Given the description of an element on the screen output the (x, y) to click on. 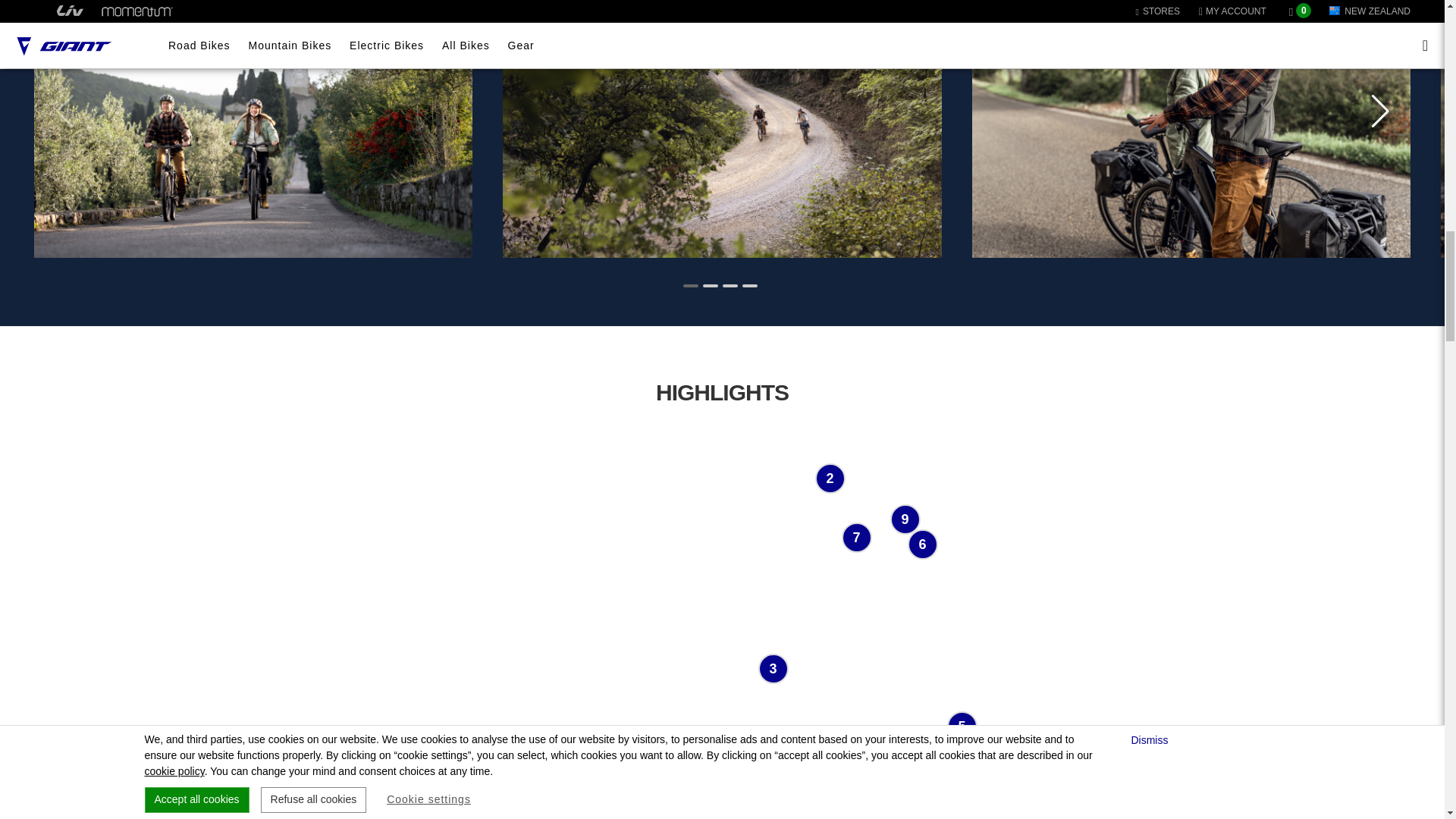
Powerful Brakes (961, 726)
Integrated Cable Routing (856, 537)
RideControl Dash (828, 478)
 Smart Assist (762, 784)
HIGHLIGHTS (721, 392)
SyncDrive Sport (684, 780)
Trailer Mount (496, 762)
 Energypak (773, 668)
Giant RideControl App (922, 544)
Lightning (904, 519)
